Given the description of an element on the screen output the (x, y) to click on. 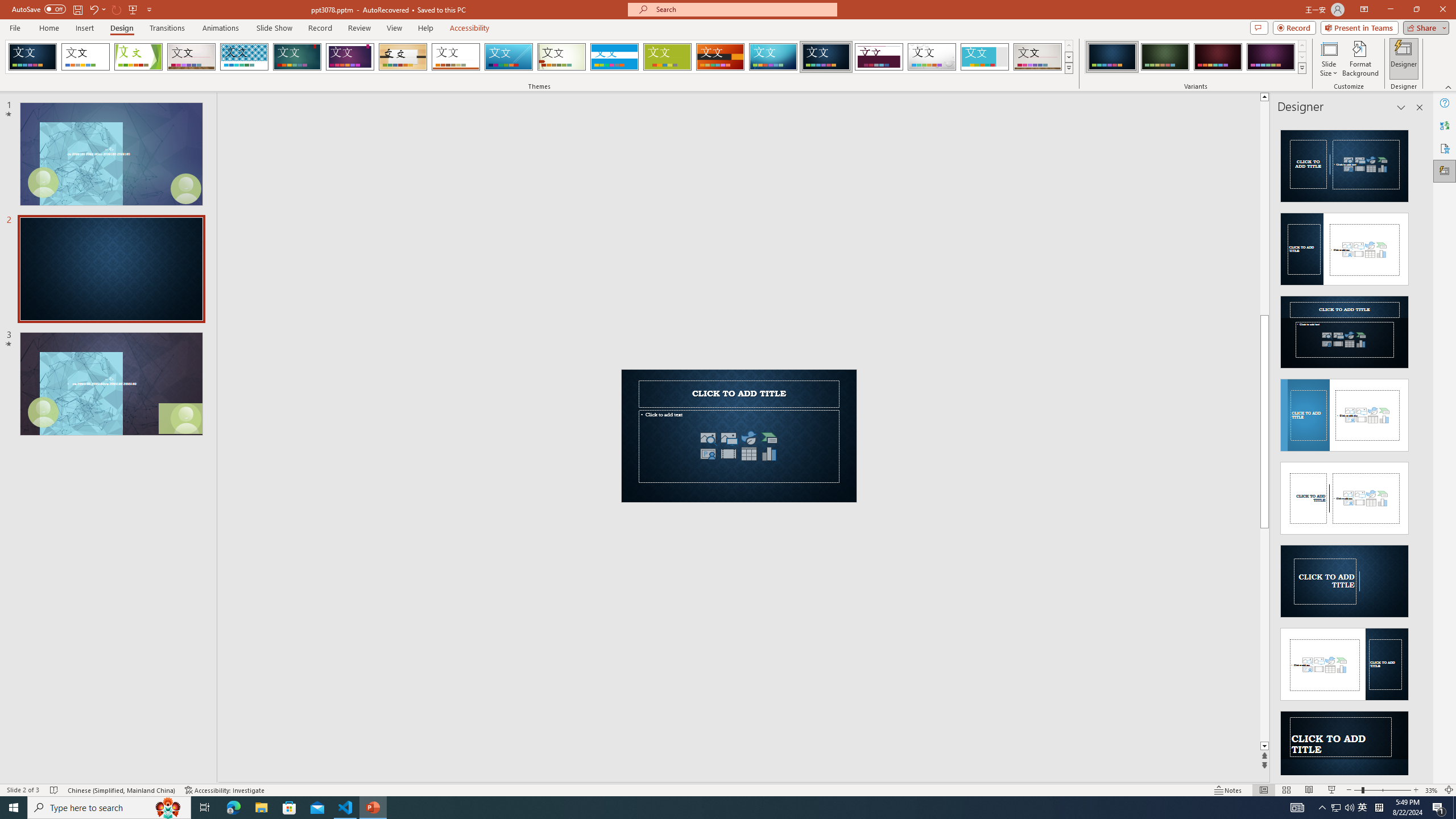
Content Placeholder (739, 446)
Gallery (1037, 56)
Slide Size (1328, 58)
